Given the description of an element on the screen output the (x, y) to click on. 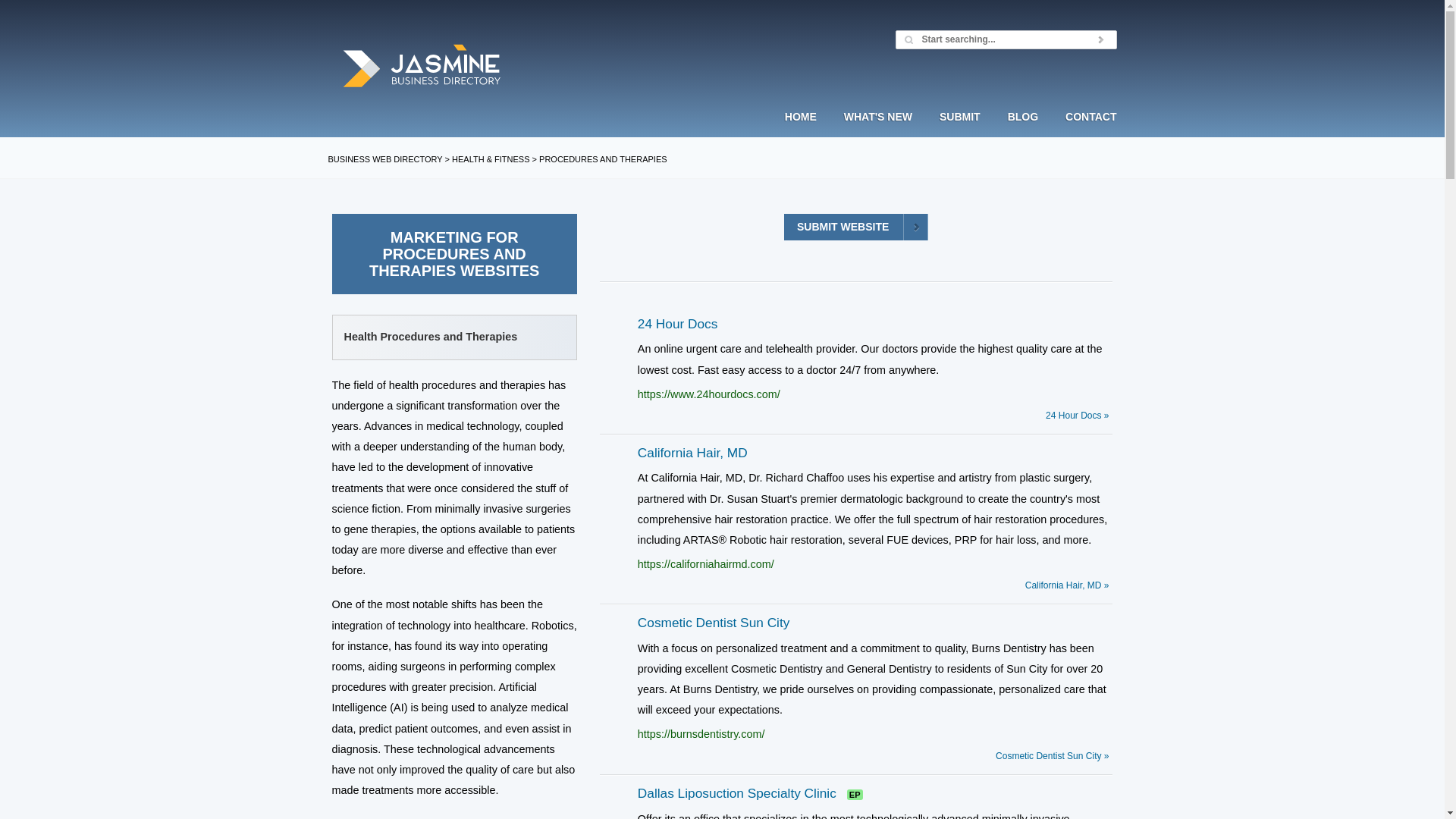
SUBMIT (960, 130)
Search (1101, 39)
BUSINESS WEB DIRECTORY (384, 158)
Read more about: Cosmetic Dentist Sun City (1051, 756)
Cosmetic Dentist Sun City (713, 622)
Search (1101, 39)
BLOG (1022, 130)
Read more about: 24 Hour Docs (1076, 415)
CONTACT (1083, 130)
WHAT'S NEW (877, 130)
Read more about: California Hair, MD (1067, 584)
Jasmine Directory (421, 66)
24 Hour Docs (677, 323)
California Hair, MD (692, 452)
Dallas Liposuction Specialty Clinic (736, 792)
